Given the description of an element on the screen output the (x, y) to click on. 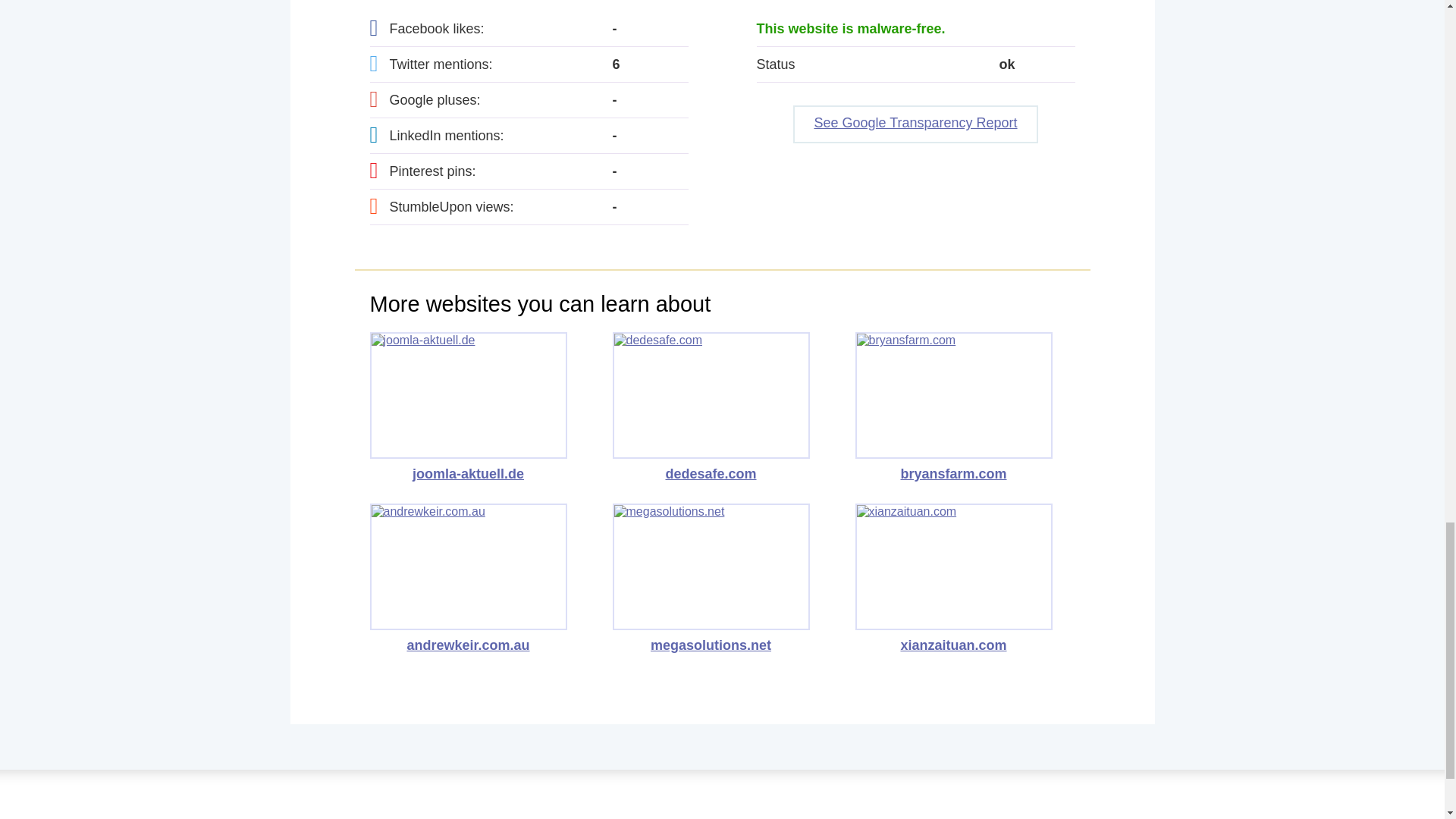
megasolutions.net (710, 578)
bryansfarm.com (954, 407)
andrewkeir.com.au (468, 578)
joomla-aktuell.de (468, 407)
dedesafe.com (710, 407)
See Google Transparency Report (914, 124)
2024 (721, 811)
xianzaituan.com (954, 578)
